Given the description of an element on the screen output the (x, y) to click on. 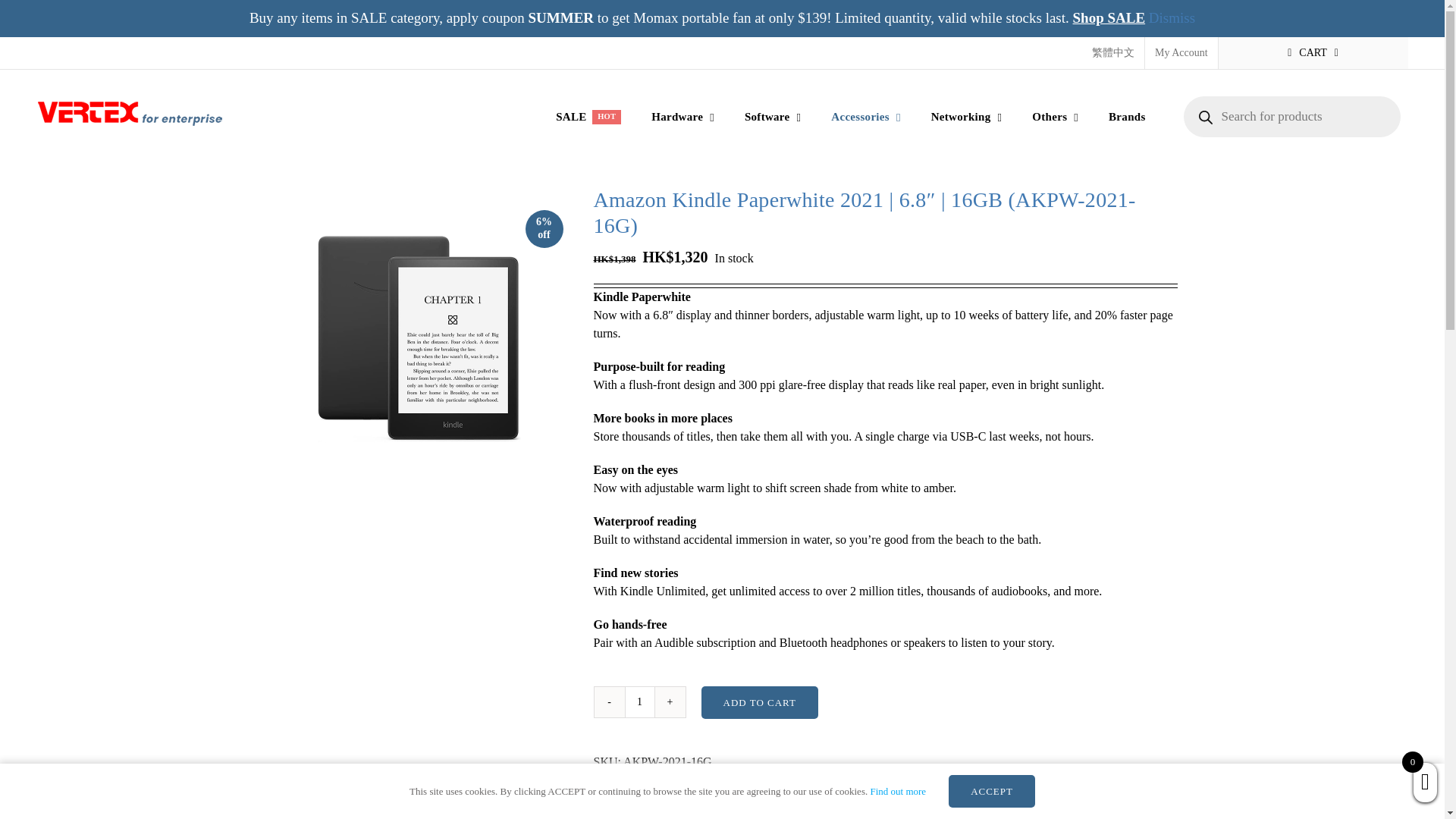
Hardware (588, 116)
CART (682, 116)
My Account (1312, 52)
1 (1180, 52)
amazon-kindle-paperwhite-2021 (639, 702)
Qty (418, 338)
- (639, 702)
Software (609, 702)
